Given the description of an element on the screen output the (x, y) to click on. 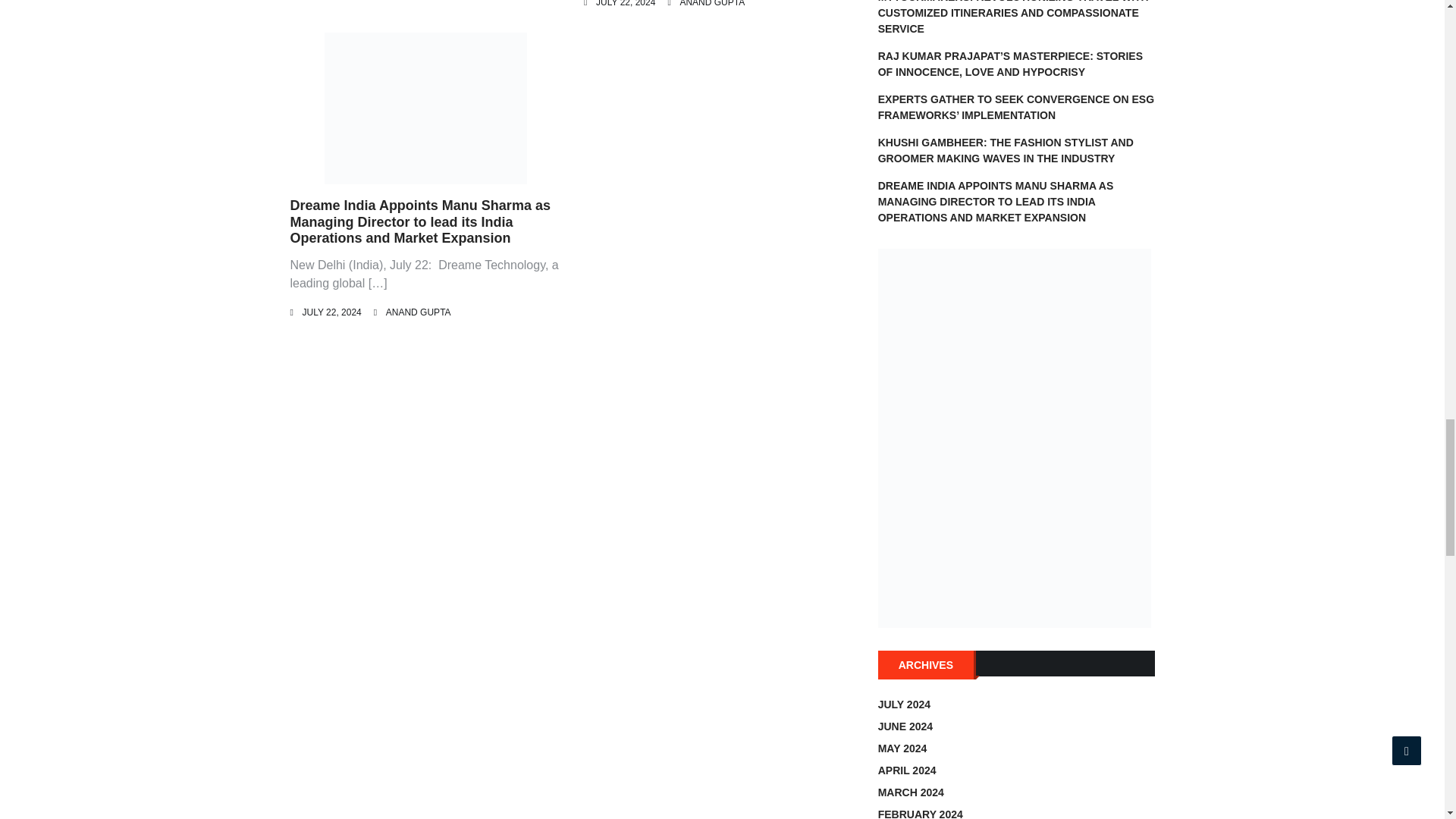
ANAND GUPTA (711, 3)
JULY 22, 2024 (331, 312)
JULY 22, 2024 (625, 3)
ANAND GUPTA (418, 312)
